Given the description of an element on the screen output the (x, y) to click on. 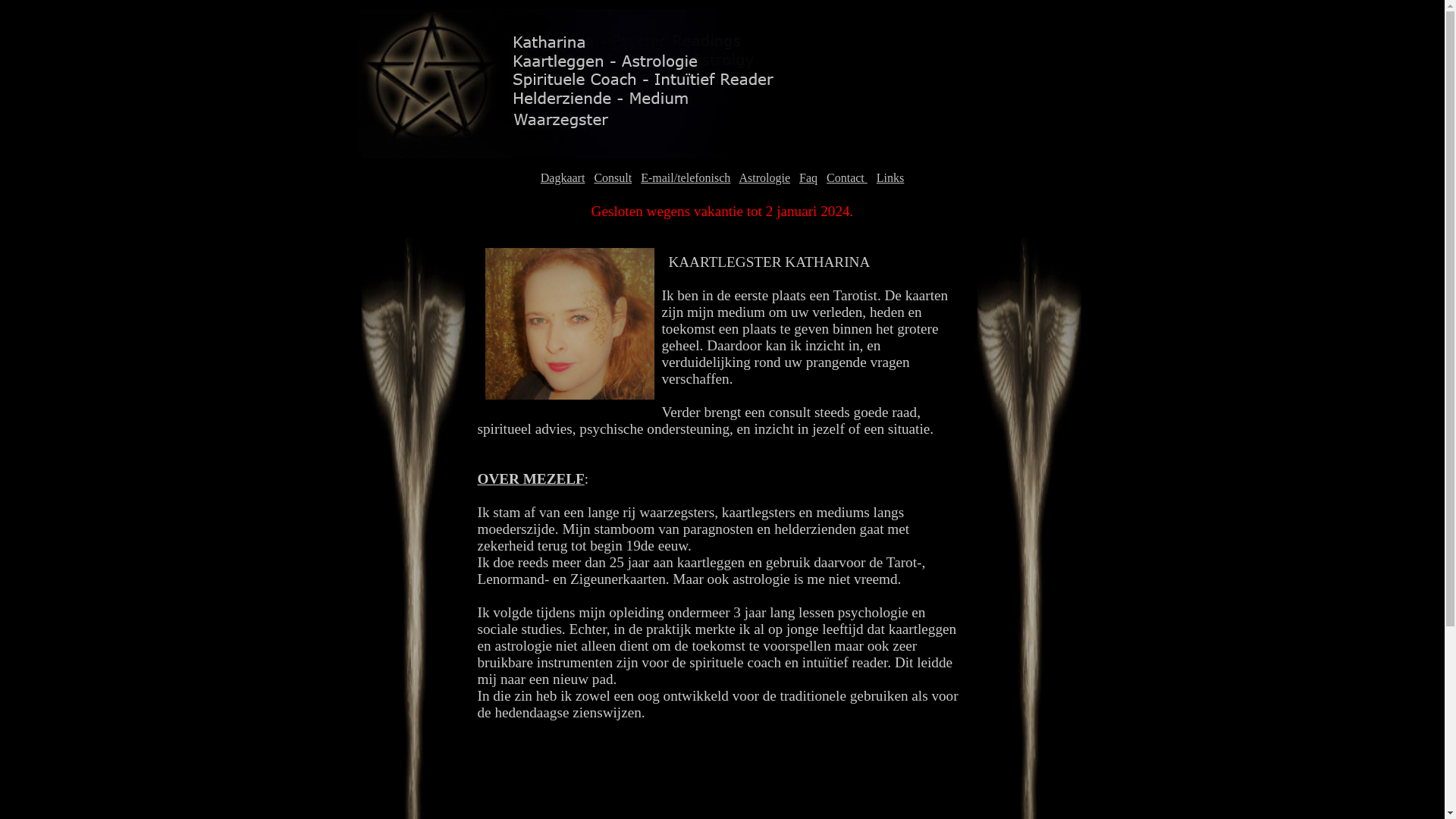
Dagkaart Element type: text (562, 177)
Contact  Element type: text (846, 177)
Astrologie Element type: text (764, 177)
Consult Element type: text (612, 177)
Faq Element type: text (808, 177)
Links Element type: text (889, 177)
E-mail/telefonisch Element type: text (685, 177)
